Given the description of an element on the screen output the (x, y) to click on. 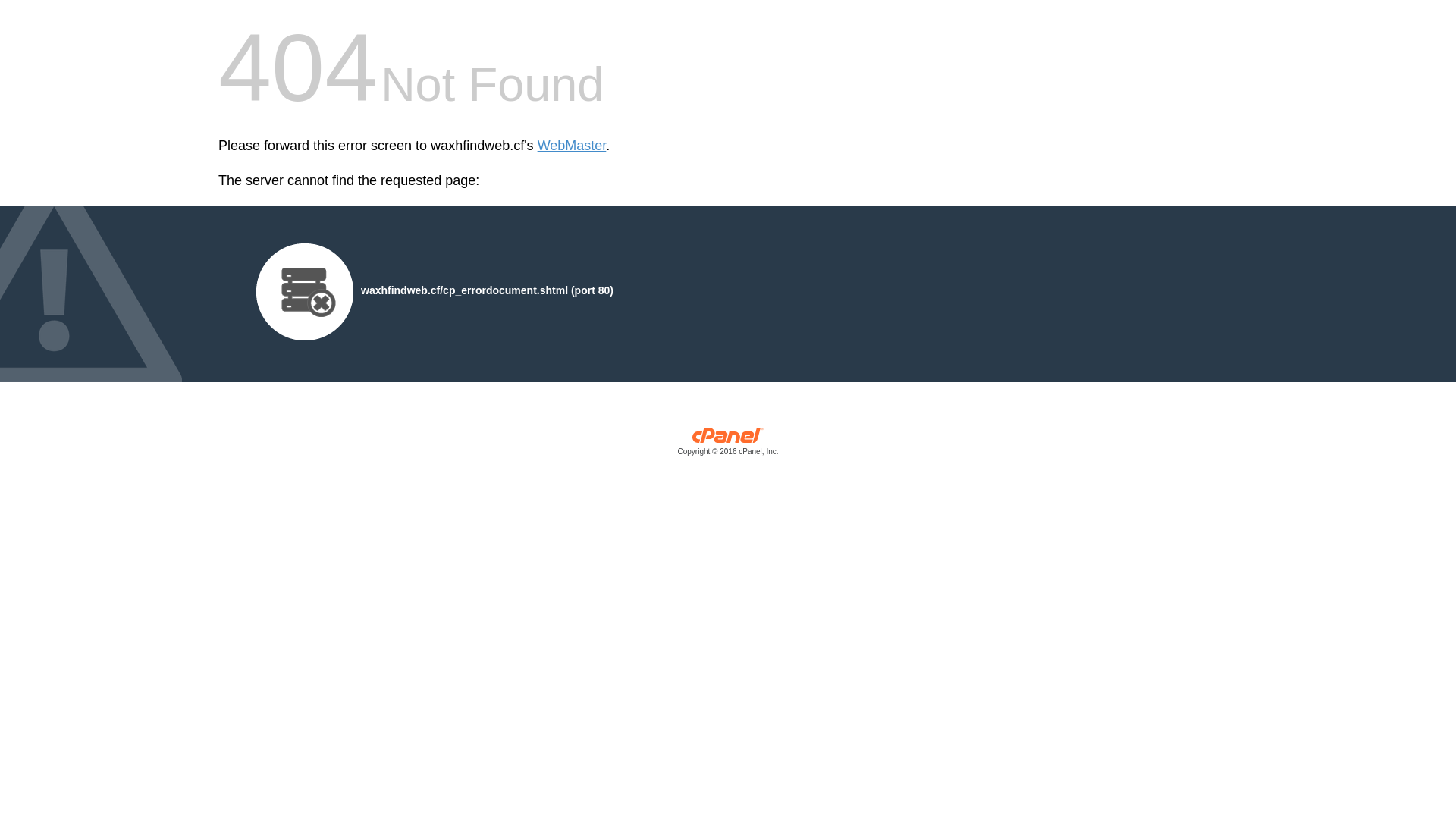
WebMaster Element type: text (571, 145)
